Given the description of an element on the screen output the (x, y) to click on. 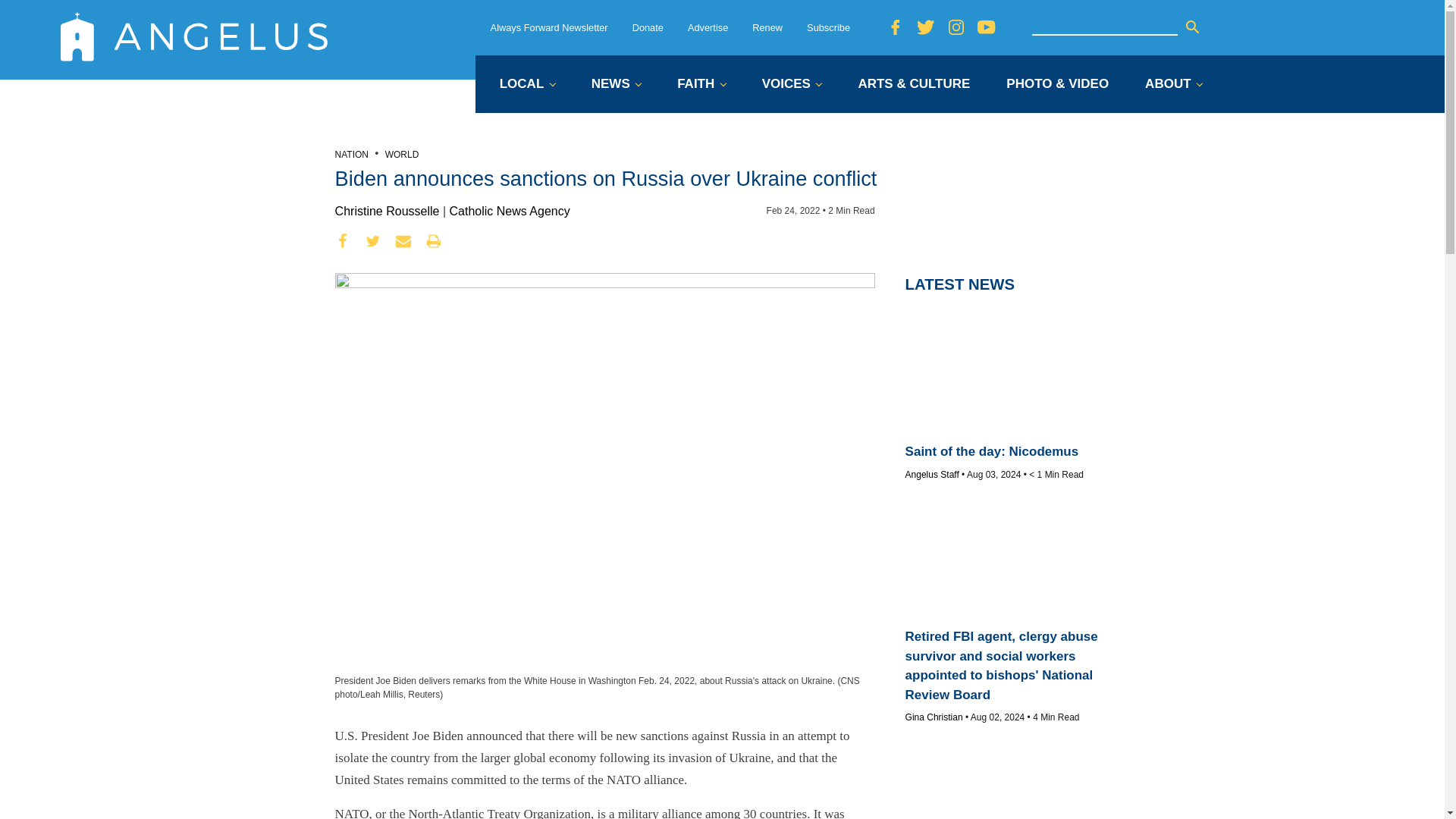
Subscribe (828, 27)
VOICES (791, 84)
envelope (403, 240)
Posts by Angelus Staff (932, 474)
Search (1192, 27)
Always Forward Newsletter (549, 27)
ABOUT (1173, 84)
facebook (342, 240)
Renew (767, 27)
Advertise (707, 27)
FAITH (701, 84)
Posts by Christine Rousselle (386, 210)
LOCAL (526, 84)
NEWS (615, 84)
print (433, 240)
